Given the description of an element on the screen output the (x, y) to click on. 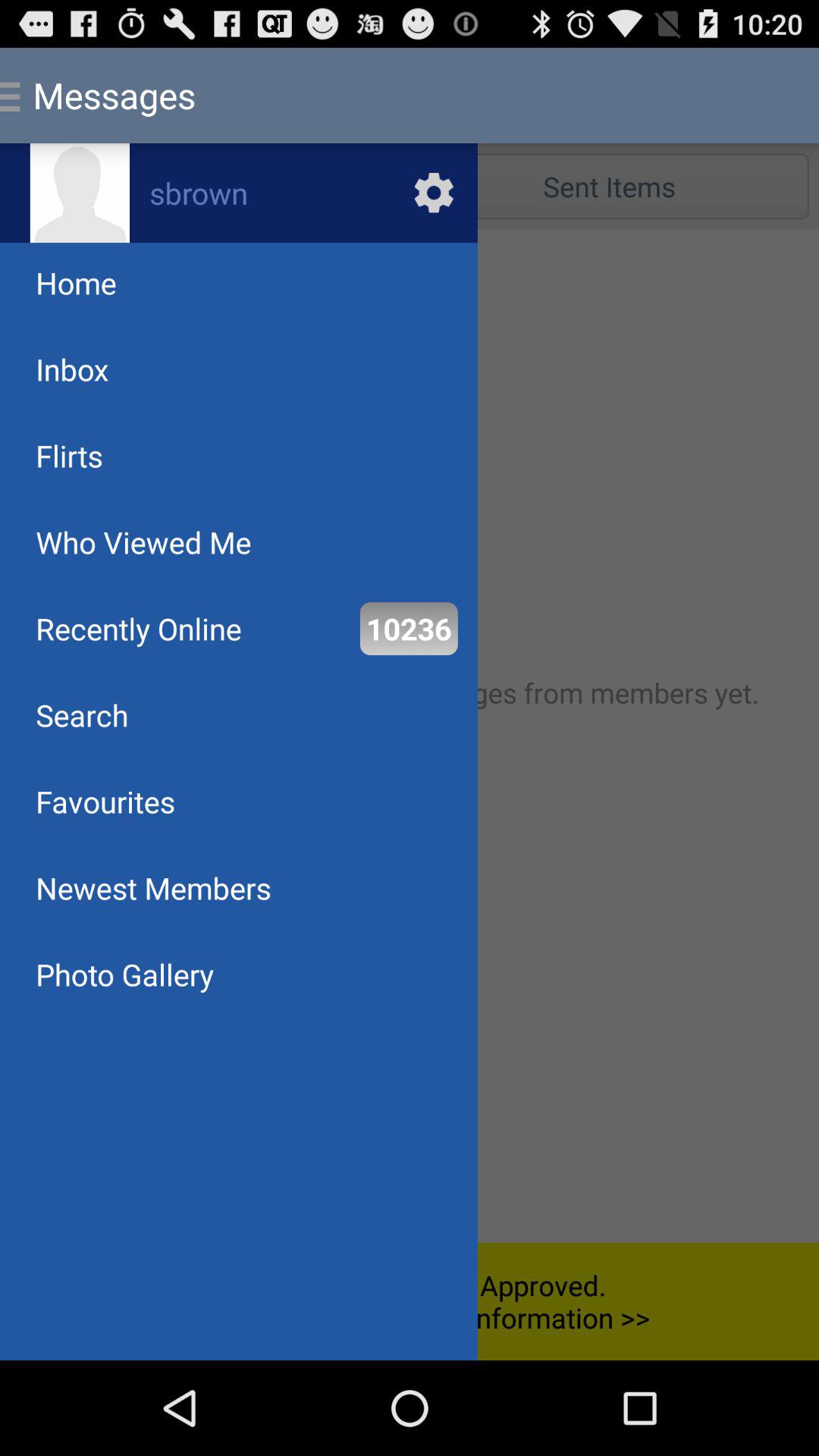
choose the photo gallery at the bottom left corner (124, 974)
